Given the description of an element on the screen output the (x, y) to click on. 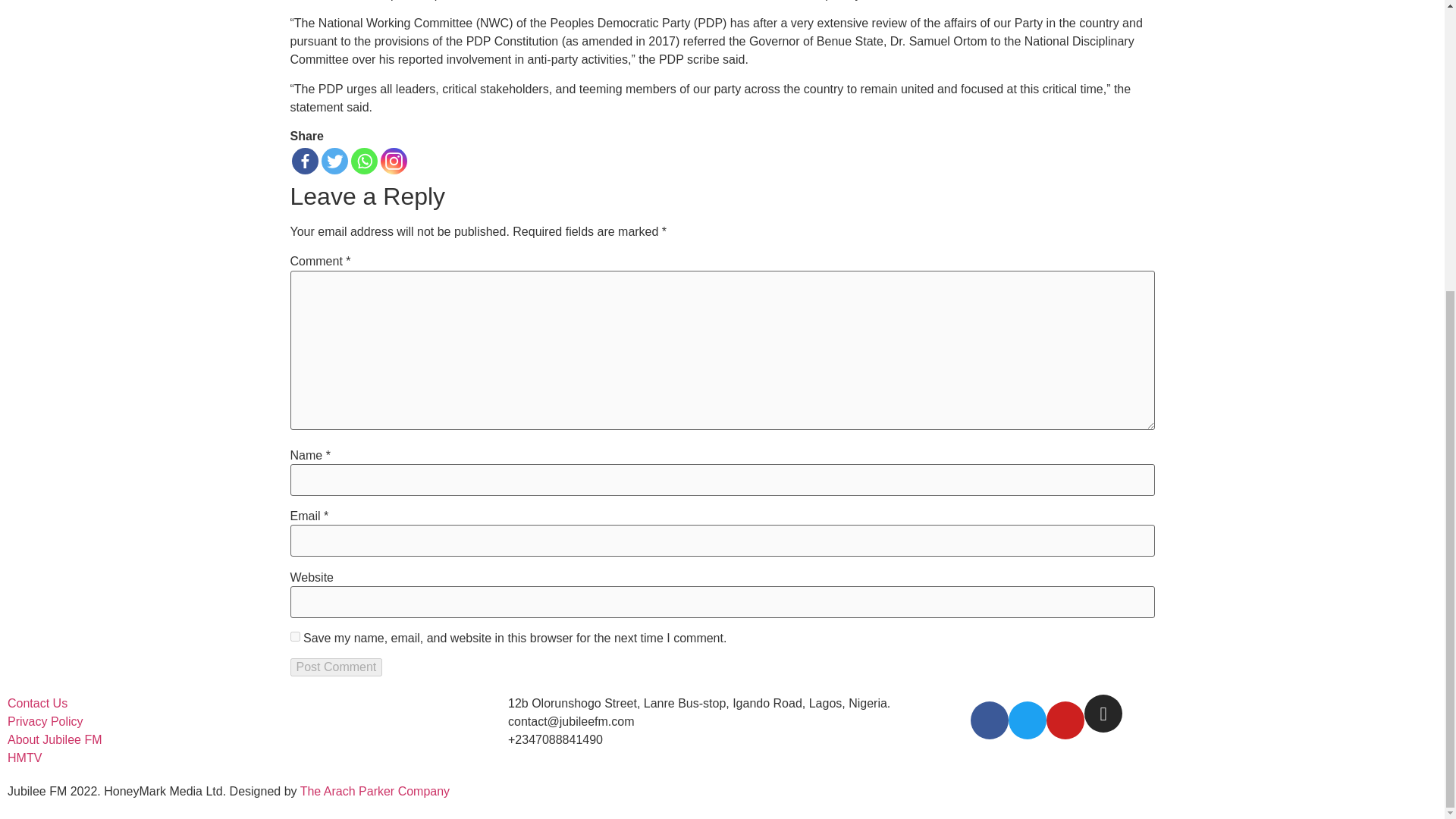
Post Comment (335, 667)
Twitter (334, 161)
HMTV (24, 758)
The Arach Parker Company (374, 790)
Post Comment (335, 667)
Privacy Policy (44, 721)
Instagram (393, 161)
Facebook (304, 161)
About Jubilee FM (54, 740)
Whatsapp (363, 161)
